Given the description of an element on the screen output the (x, y) to click on. 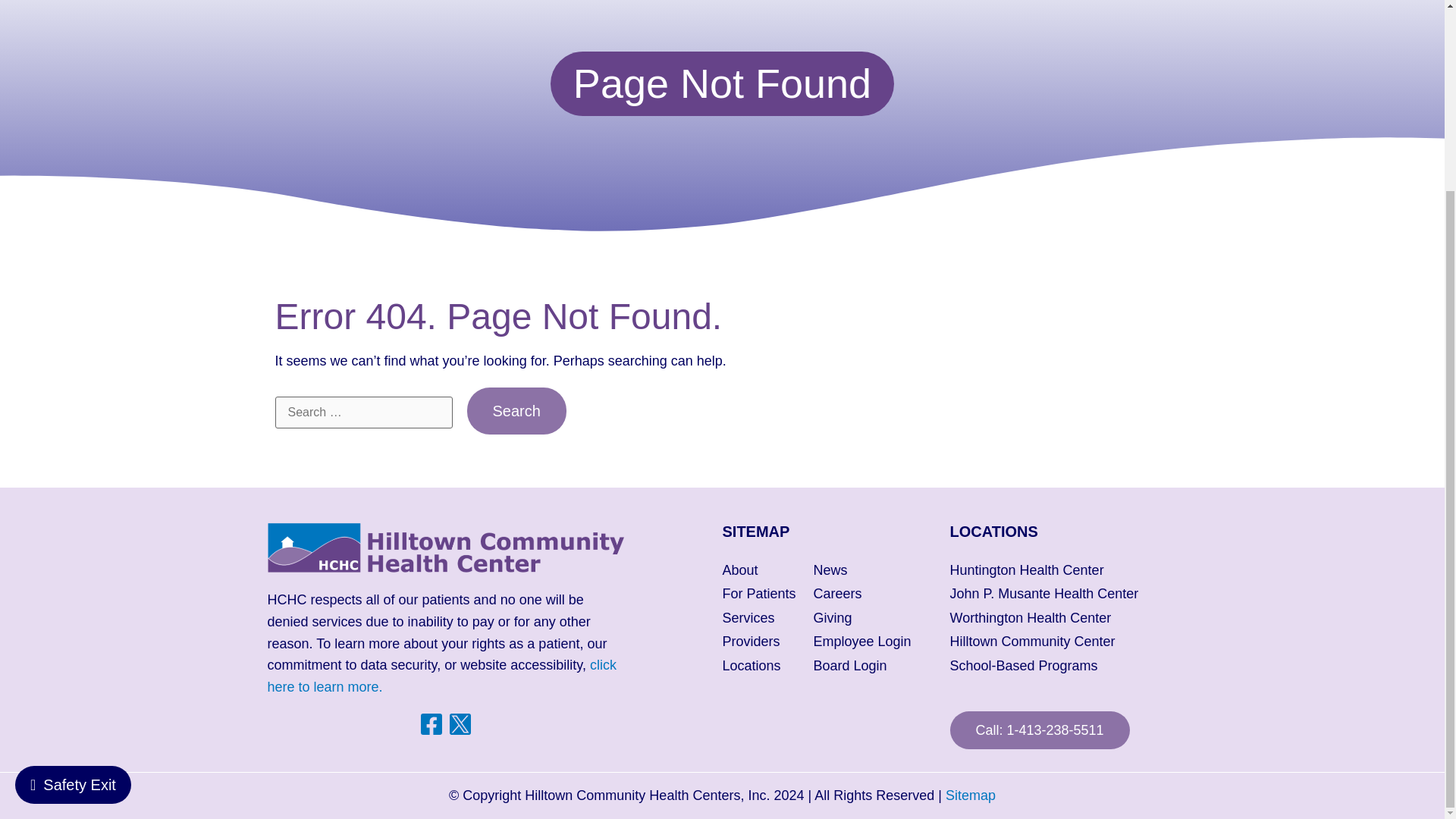
Safety Exit (72, 546)
Search (516, 410)
Search (516, 410)
